Given the description of an element on the screen output the (x, y) to click on. 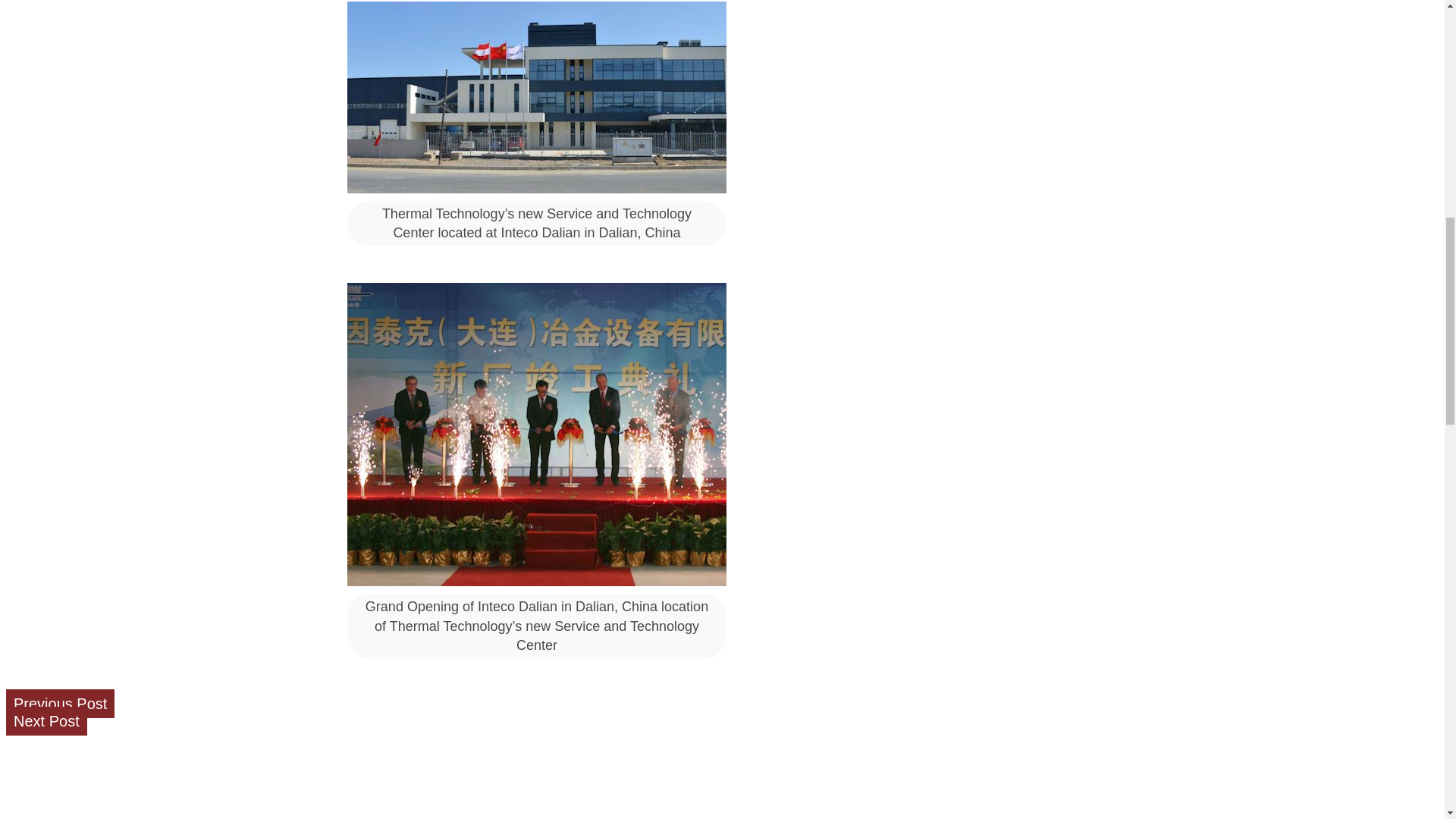
Previous Post (60, 703)
Next Post (46, 720)
